Given the description of an element on the screen output the (x, y) to click on. 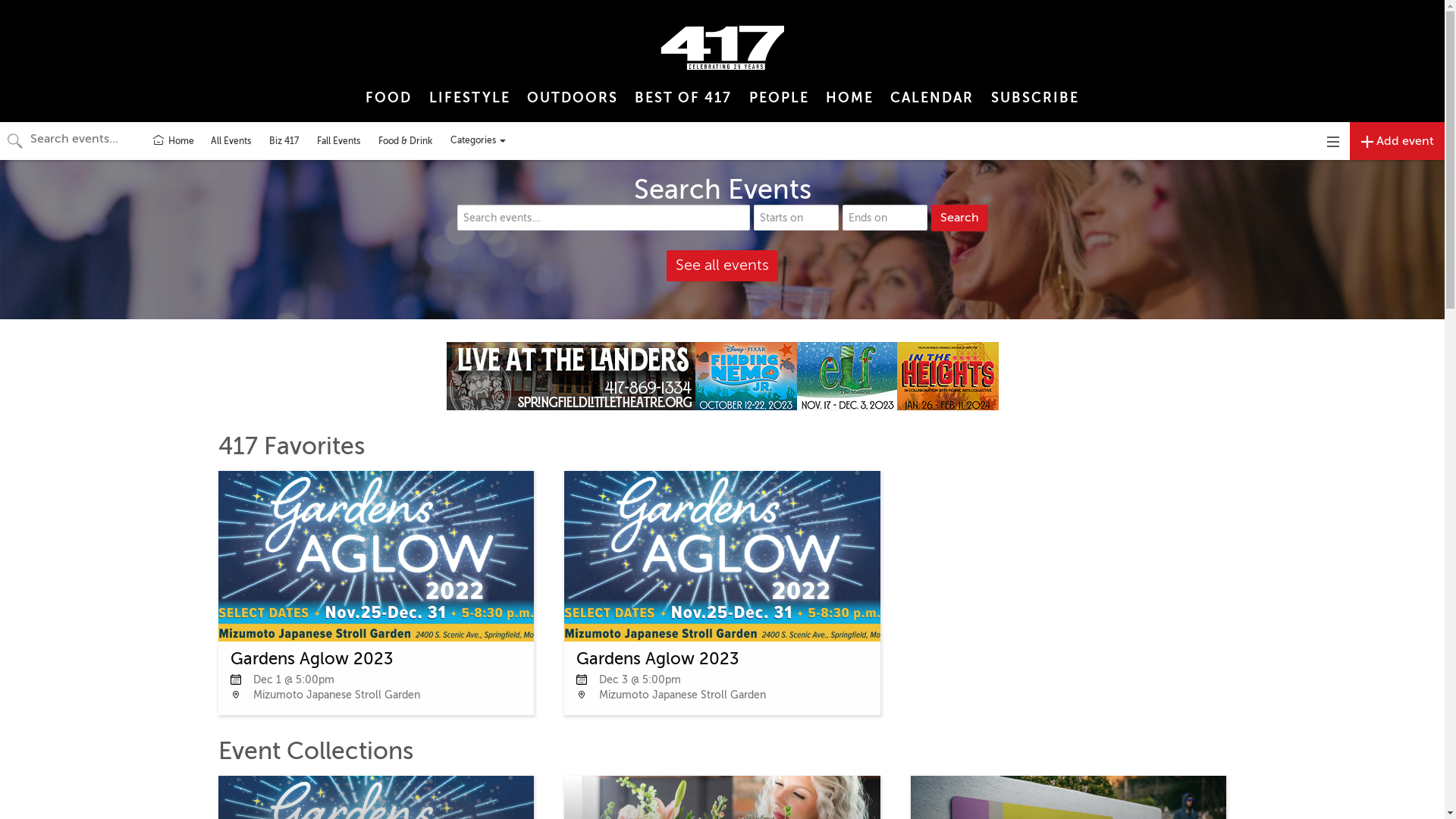
Food & Drink Element type: text (405, 141)
plus Element type: hover (1366, 141)
Search Element type: text (959, 217)
HOME Element type: text (849, 96)
SUBSCRIBE Element type: text (1034, 96)
LIFESTYLE Element type: text (468, 96)
Fall Events Element type: text (338, 141)
three horizontal lines Element type: hover (1333, 141)
BEST OF 417 Element type: text (683, 96)
PEOPLE Element type: text (778, 96)
Biz 417 Element type: text (283, 141)
OUTDOORS Element type: text (572, 96)
FOOD Element type: text (388, 96)
See all events Element type: text (722, 265)
Home Element type: text (172, 141)
Toggle navigation Element type: text (1332, 141)
CALENDAR Element type: text (931, 96)
All Events Element type: text (230, 141)
 Add event Element type: text (1396, 141)
Toggle categories menu
Categories  Element type: text (477, 141)
